Given the description of an element on the screen output the (x, y) to click on. 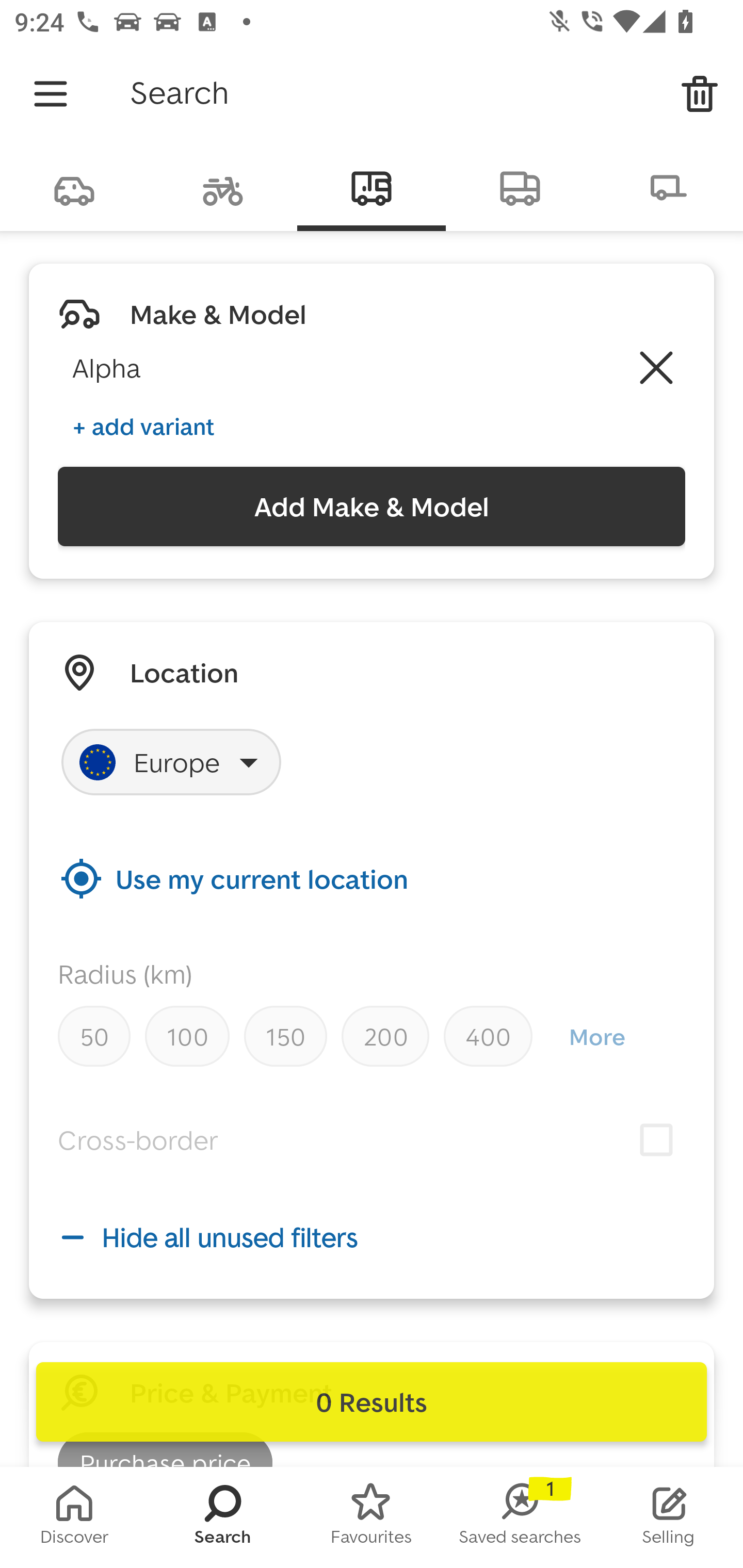
Navigate up (50, 93)
New search (699, 93)
CAR_SEARCH (74, 187)
BIKE_SEARCH (222, 187)
TRUCKS_SEARCH (519, 187)
TRAILERS_SEARCH (668, 187)
Make & Model (218, 314)
+ add variant (143, 426)
Add Make & Model (371, 506)
Location (184, 672)
Europe (170, 761)
Use my current location (371, 877)
Radius (km) (124, 973)
50 (93, 1035)
100 (186, 1035)
150 (284, 1035)
200 (385, 1035)
400 (487, 1035)
More (596, 1036)
Hide all unused filters (371, 1236)
0 Results (371, 1401)
HOMESCREEN Discover (74, 1517)
SEARCH Search (222, 1517)
FAVORITES Favourites (371, 1517)
SAVED_SEARCHES Saved searches 1 (519, 1517)
STOCK_LIST Selling (668, 1517)
